Given the description of an element on the screen output the (x, y) to click on. 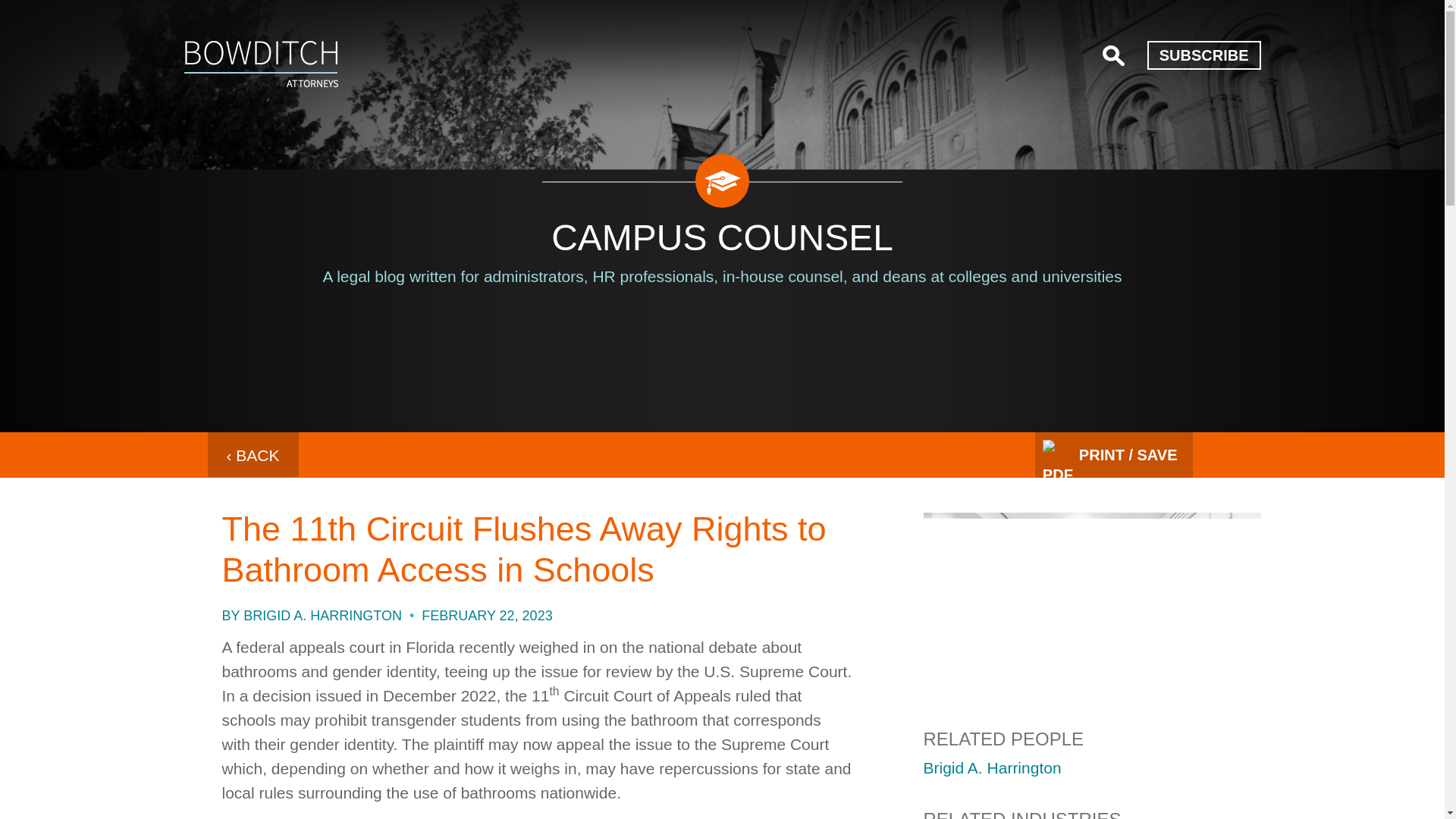
BRIGID A. HARRINGTON (322, 615)
Brigid A. Harrington (992, 767)
Campus Counsel (260, 63)
CAMPUS COUNSEL (722, 237)
SUBSCRIBE (1203, 54)
